Given the description of an element on the screen output the (x, y) to click on. 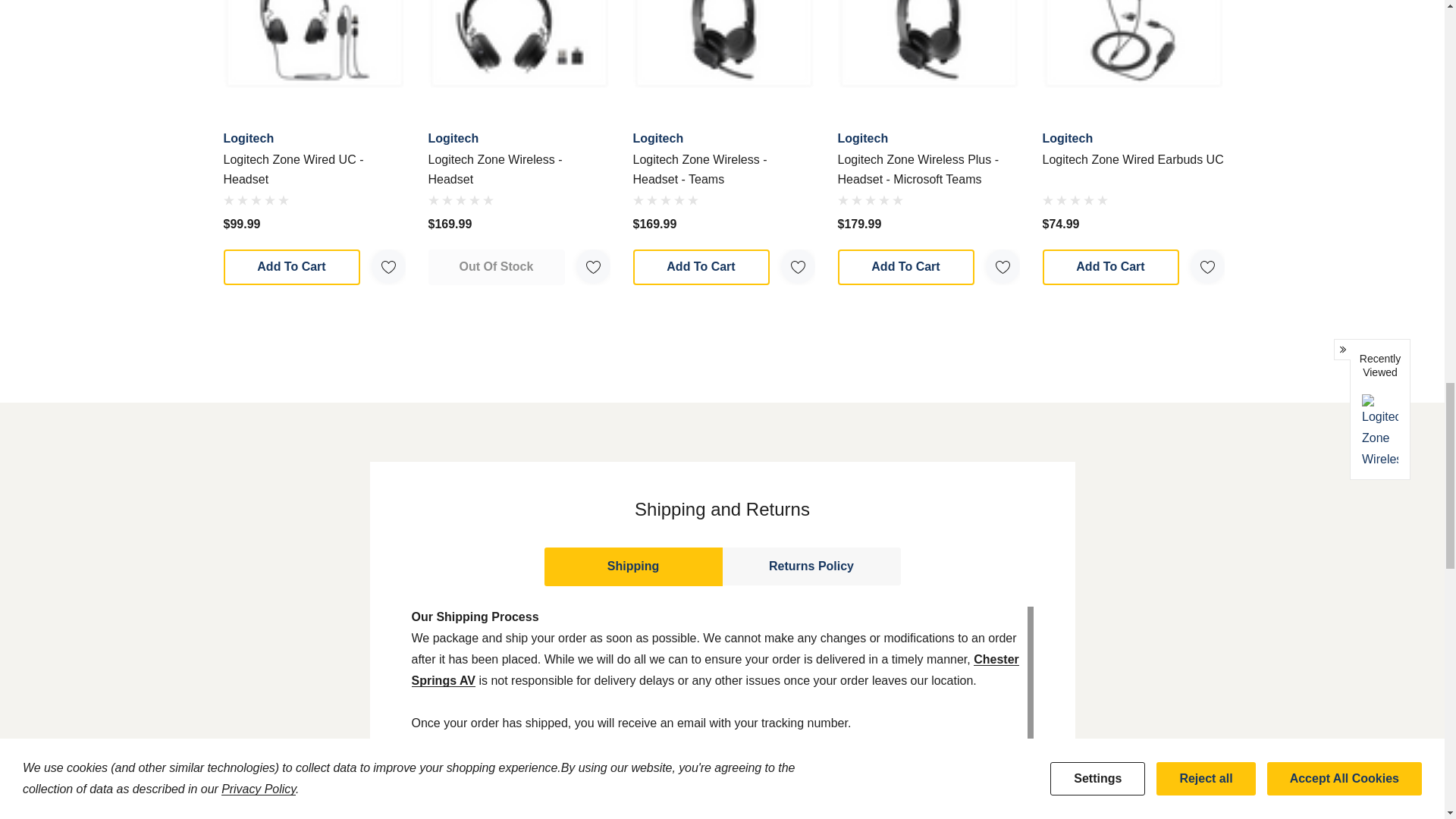
Logitech  Zone Wireless Headset (519, 44)
Logitech Zone Wired Earbuds UC (1133, 44)
Logitech Zone Wireless Plus - Teams (928, 44)
Logitech Zone Wired UC - Headset (313, 44)
Logitech Zone Wireless - Teams (722, 44)
